Given the description of an element on the screen output the (x, y) to click on. 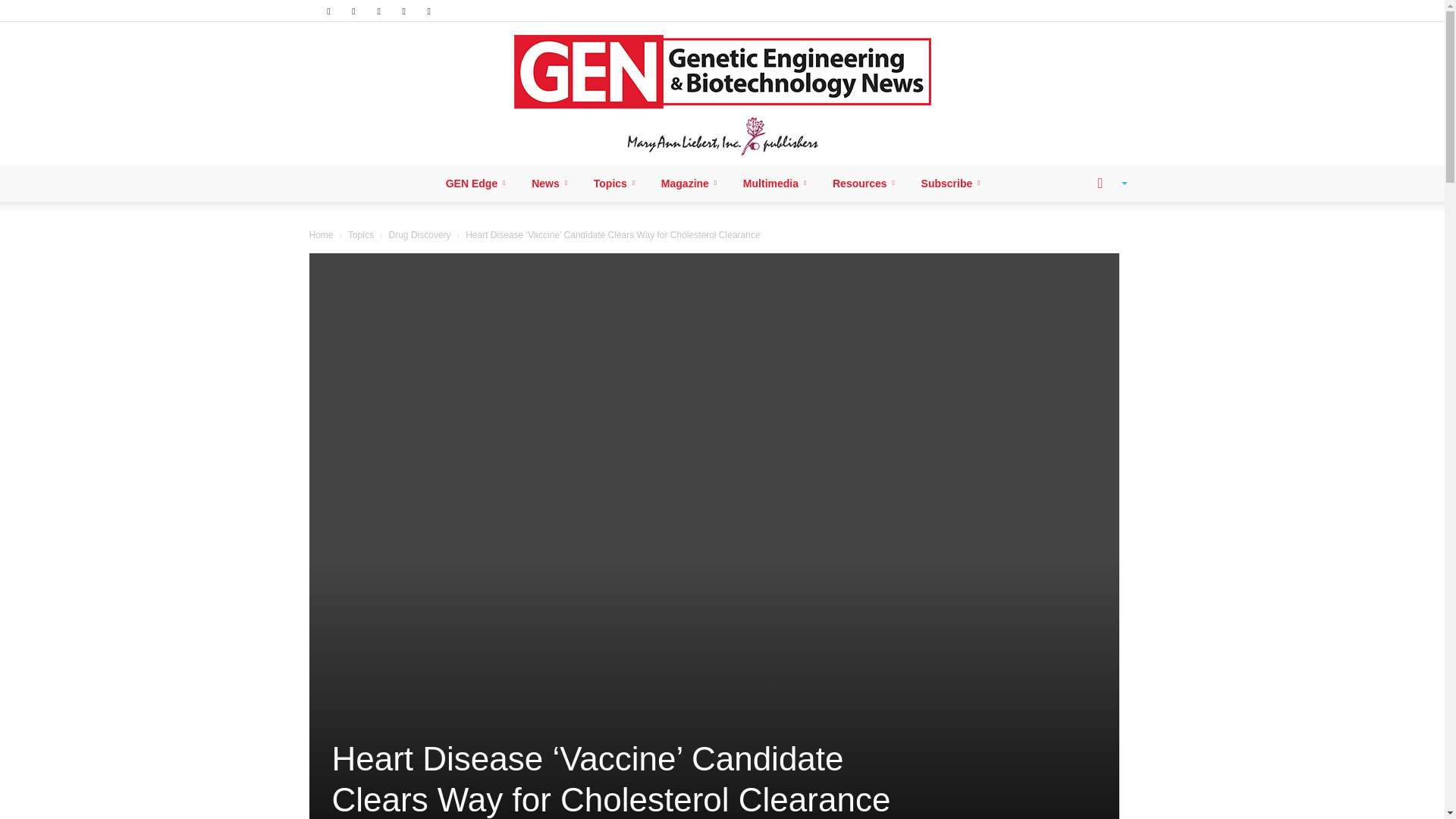
Twitter (403, 10)
Linkedin (353, 10)
View all posts in Drug Discovery (419, 235)
Youtube (429, 10)
Facebook (328, 10)
View all posts in Topics (360, 235)
RSS (379, 10)
